Given the description of an element on the screen output the (x, y) to click on. 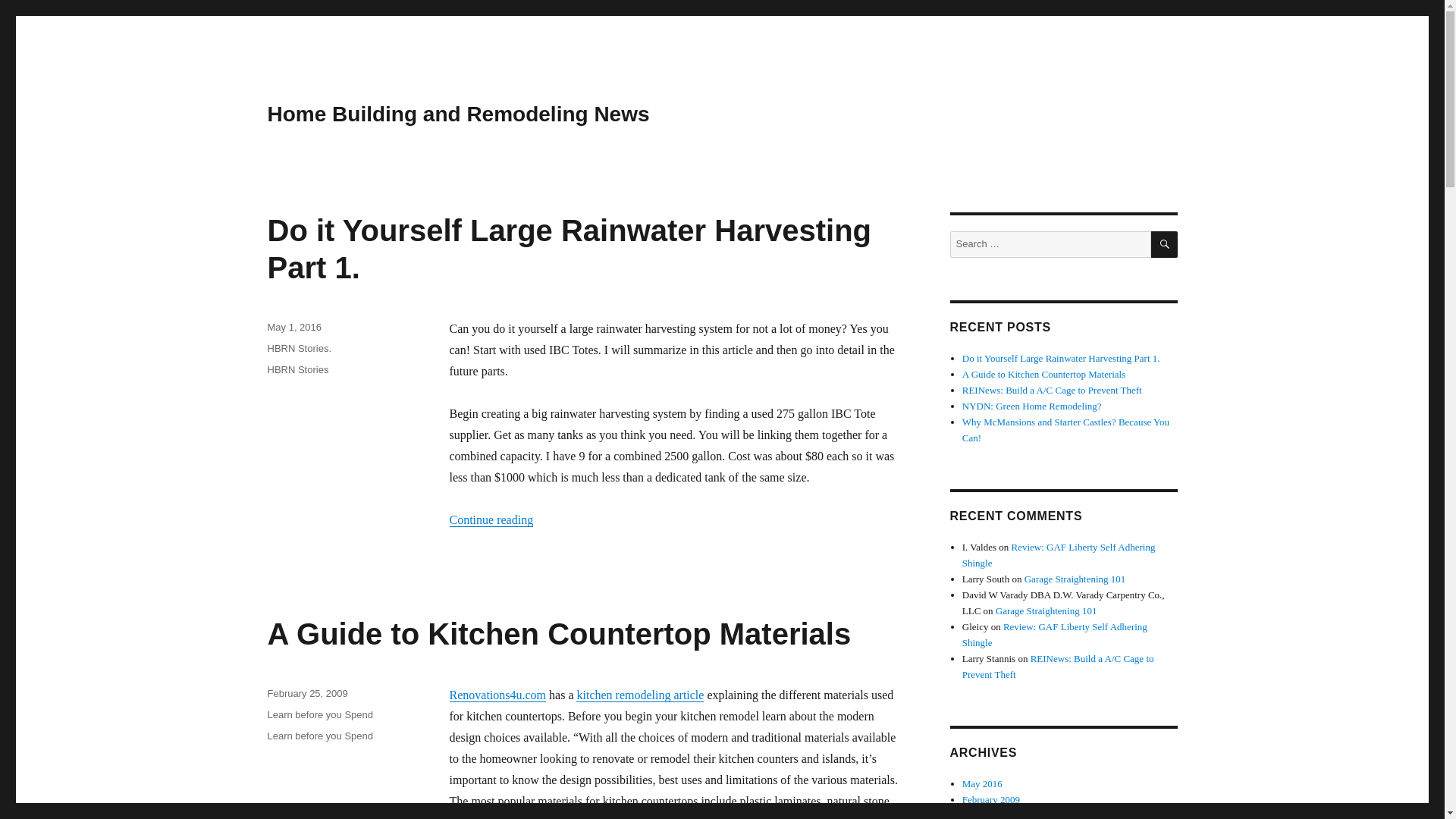
February 25, 2009 (306, 693)
Do it Yourself Large Rainwater Harvesting Part 1. (568, 248)
kitchen remodeling article (639, 694)
A Guide to Kitchen Countertop Materials (558, 633)
HBRN Stories. (298, 348)
Renovations4u.com (497, 694)
Learn before you Spend (319, 714)
May 1, 2016 (293, 326)
Learn before you Spend (319, 736)
Home Building and Remodeling News (457, 114)
HBRN Stories (297, 369)
